Given the description of an element on the screen output the (x, y) to click on. 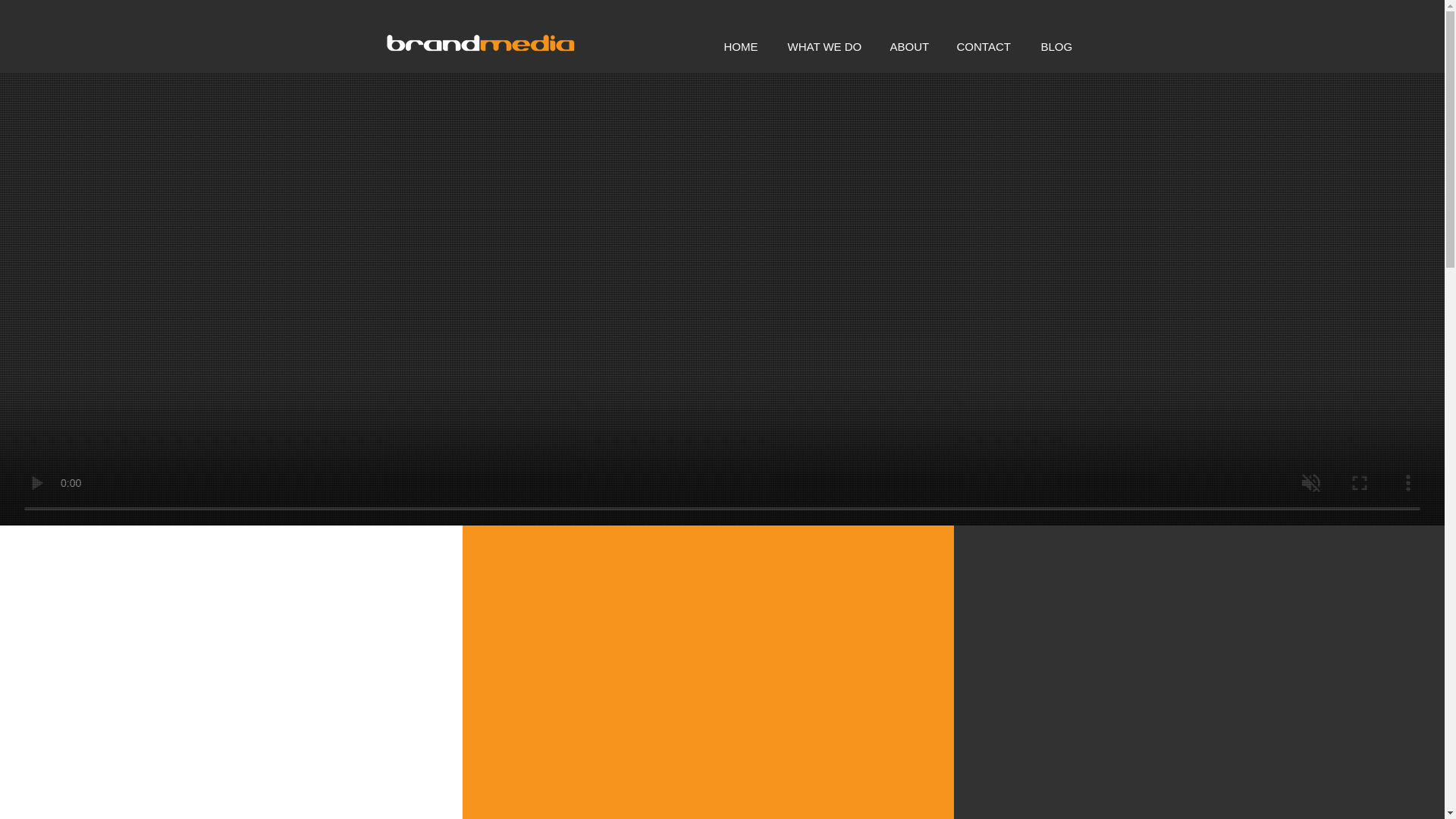
WHAT WE DO (827, 46)
HOME (744, 46)
ABOUT (910, 46)
CONTACT (986, 46)
BLOG (1059, 46)
